Given the description of an element on the screen output the (x, y) to click on. 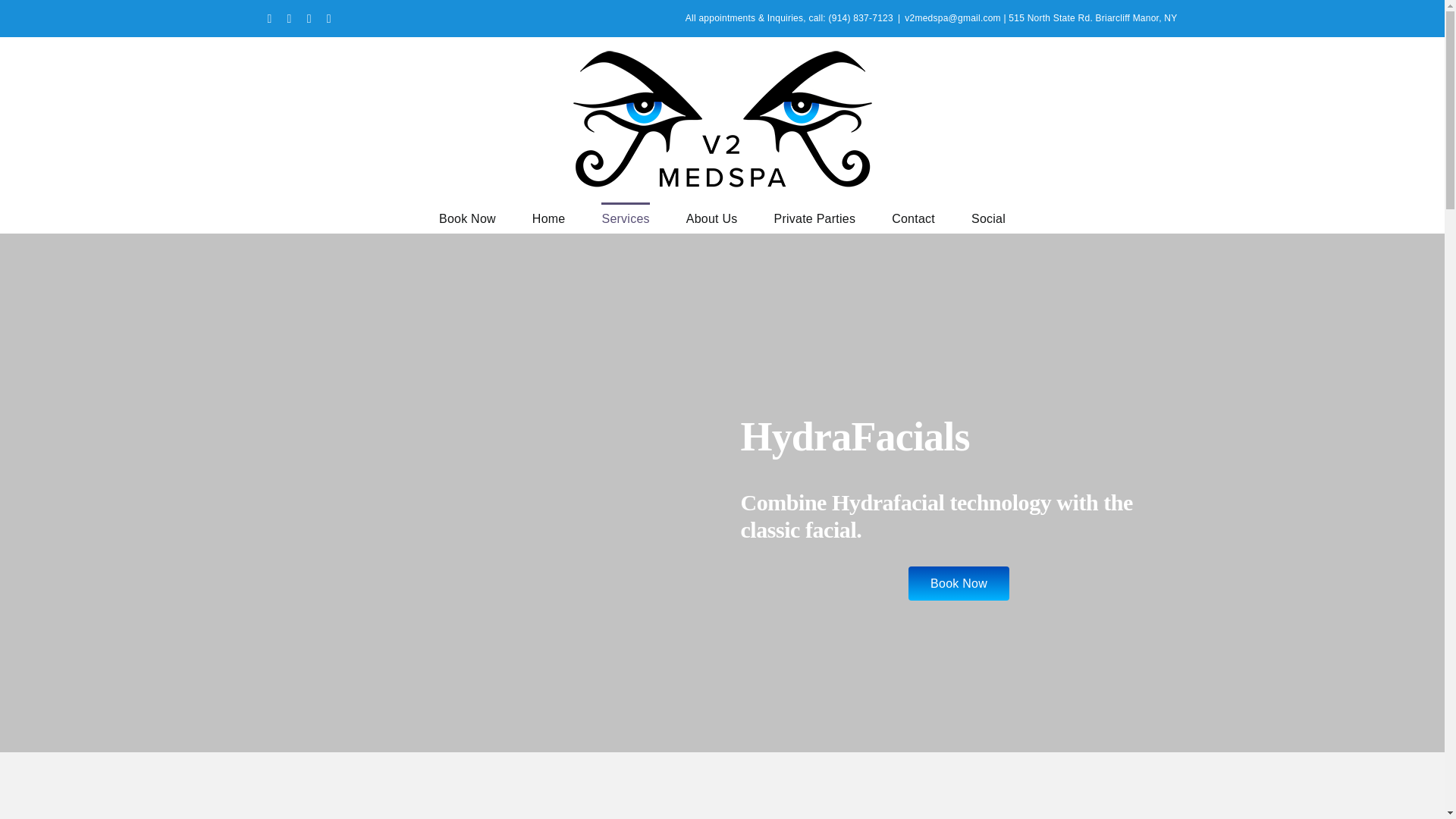
Services (625, 217)
Home (549, 217)
Book Now (467, 217)
